Given the description of an element on the screen output the (x, y) to click on. 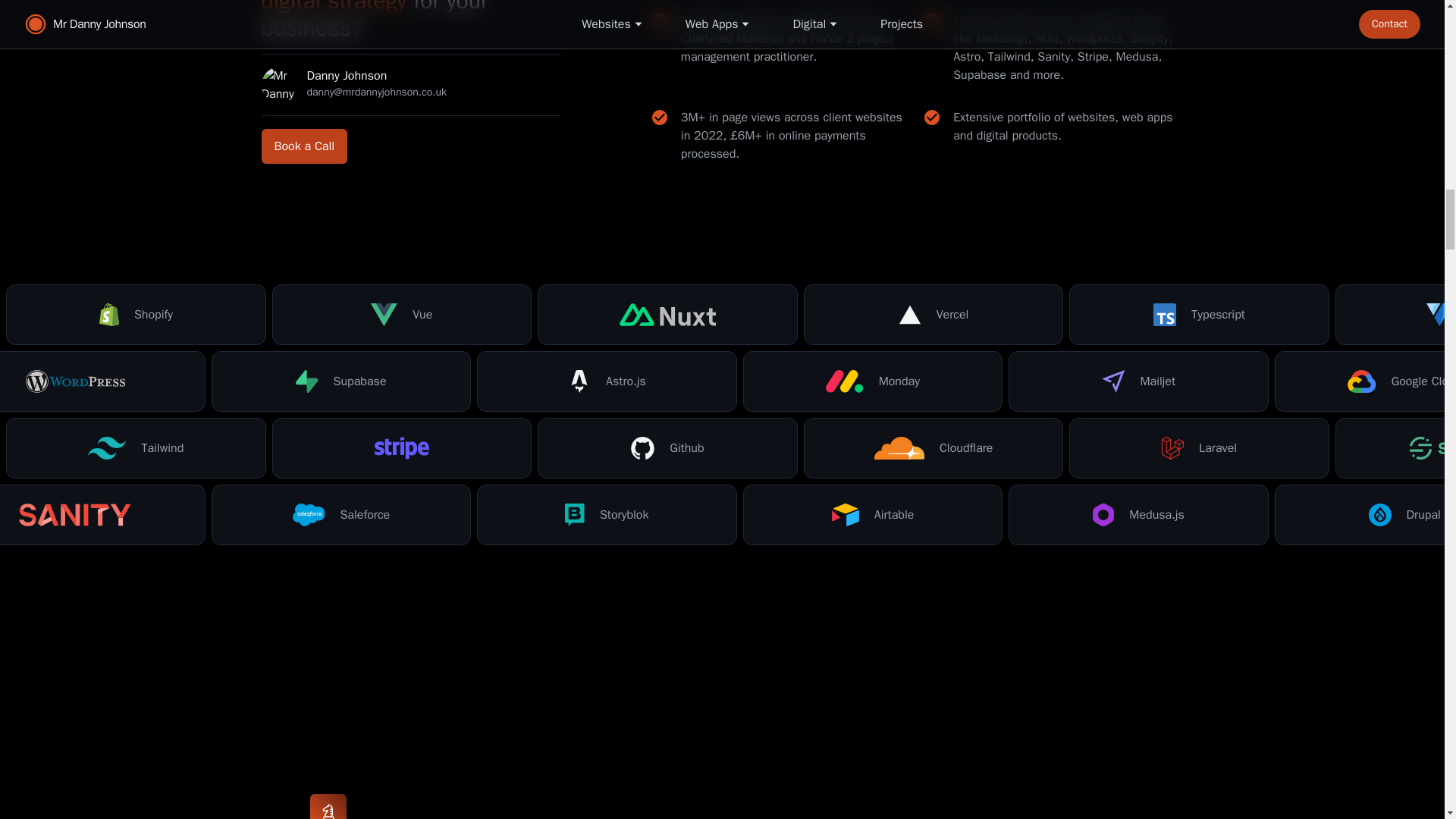
Book a Call (303, 145)
